Given the description of an element on the screen output the (x, y) to click on. 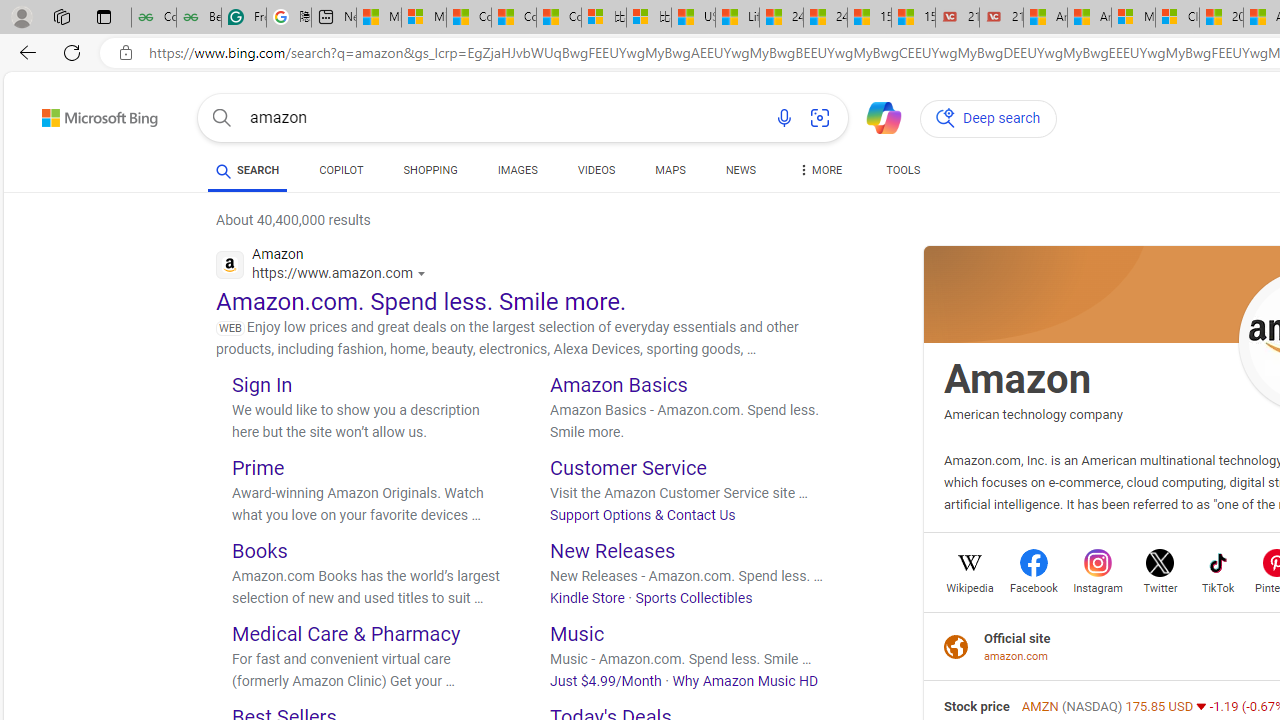
Search using voice (783, 117)
Search using an image (820, 117)
Back to Bing search (87, 113)
Amazon (1017, 378)
Support Options & Contact Us (643, 515)
Sign In (262, 384)
MAPS (669, 170)
Complete Guide to Arrays Data Structure - GeeksforGeeks (153, 17)
Amazon Basics (619, 384)
American technology company (1033, 413)
